Given the description of an element on the screen output the (x, y) to click on. 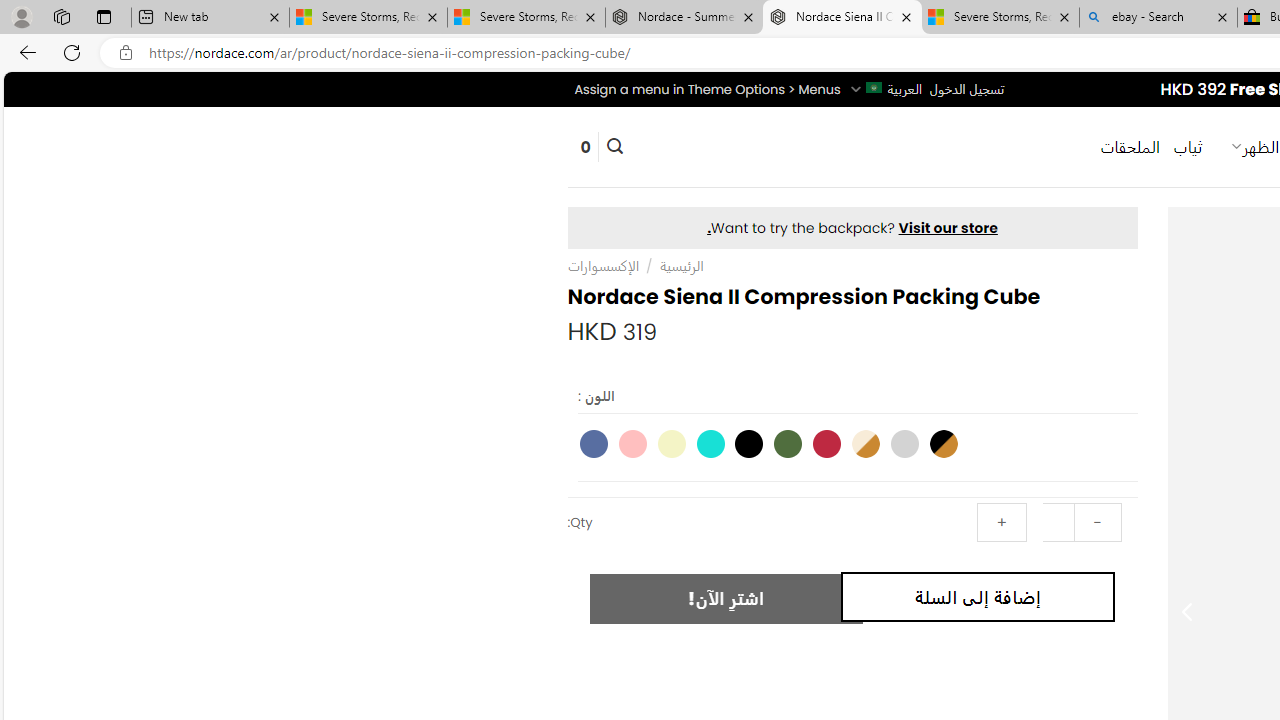
Refresh (72, 52)
- (1097, 521)
  0 (585, 146)
